Given the description of an element on the screen output the (x, y) to click on. 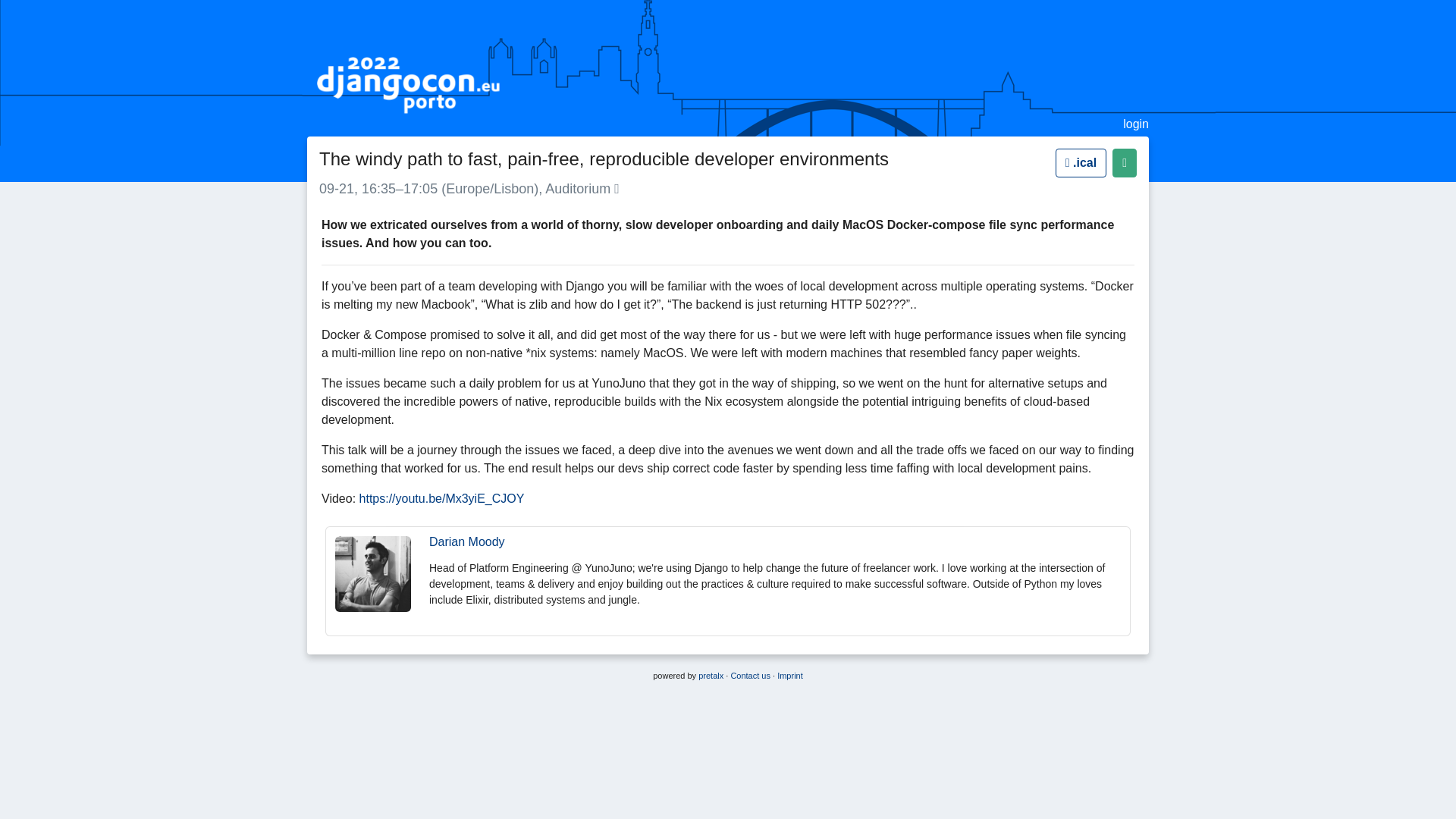
Darian Moody (467, 541)
pretalx (710, 675)
Contact us (750, 675)
Super Bock Arena Auditorium (617, 188)
login (1135, 124)
.ical (1080, 162)
Imprint (790, 675)
